Given the description of an element on the screen output the (x, y) to click on. 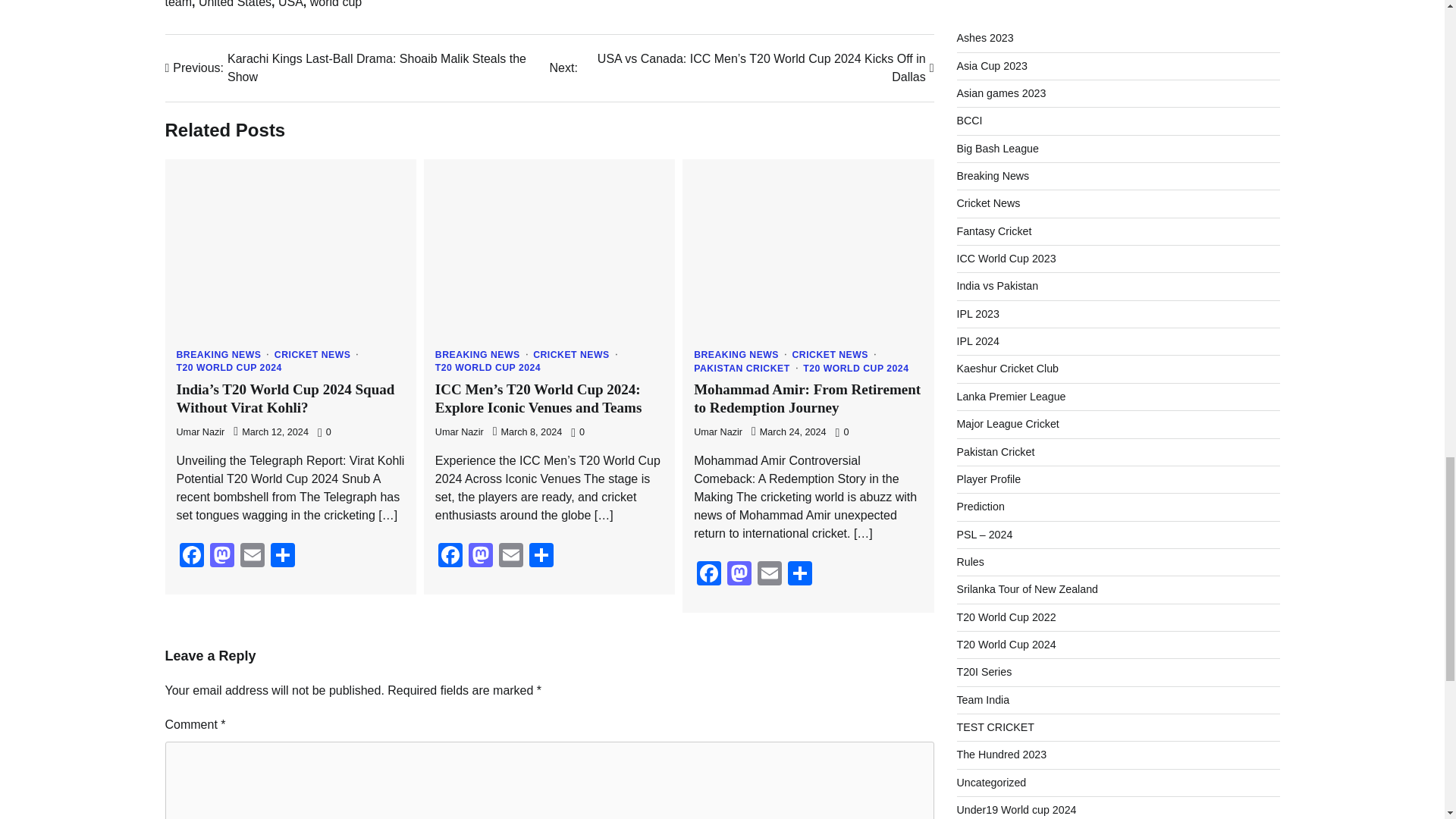
Facebook (708, 574)
United States (234, 4)
Email (250, 556)
Mastodon (480, 556)
Facebook (191, 556)
Facebook (450, 556)
Email (510, 556)
Mastodon (220, 556)
